Given the description of an element on the screen output the (x, y) to click on. 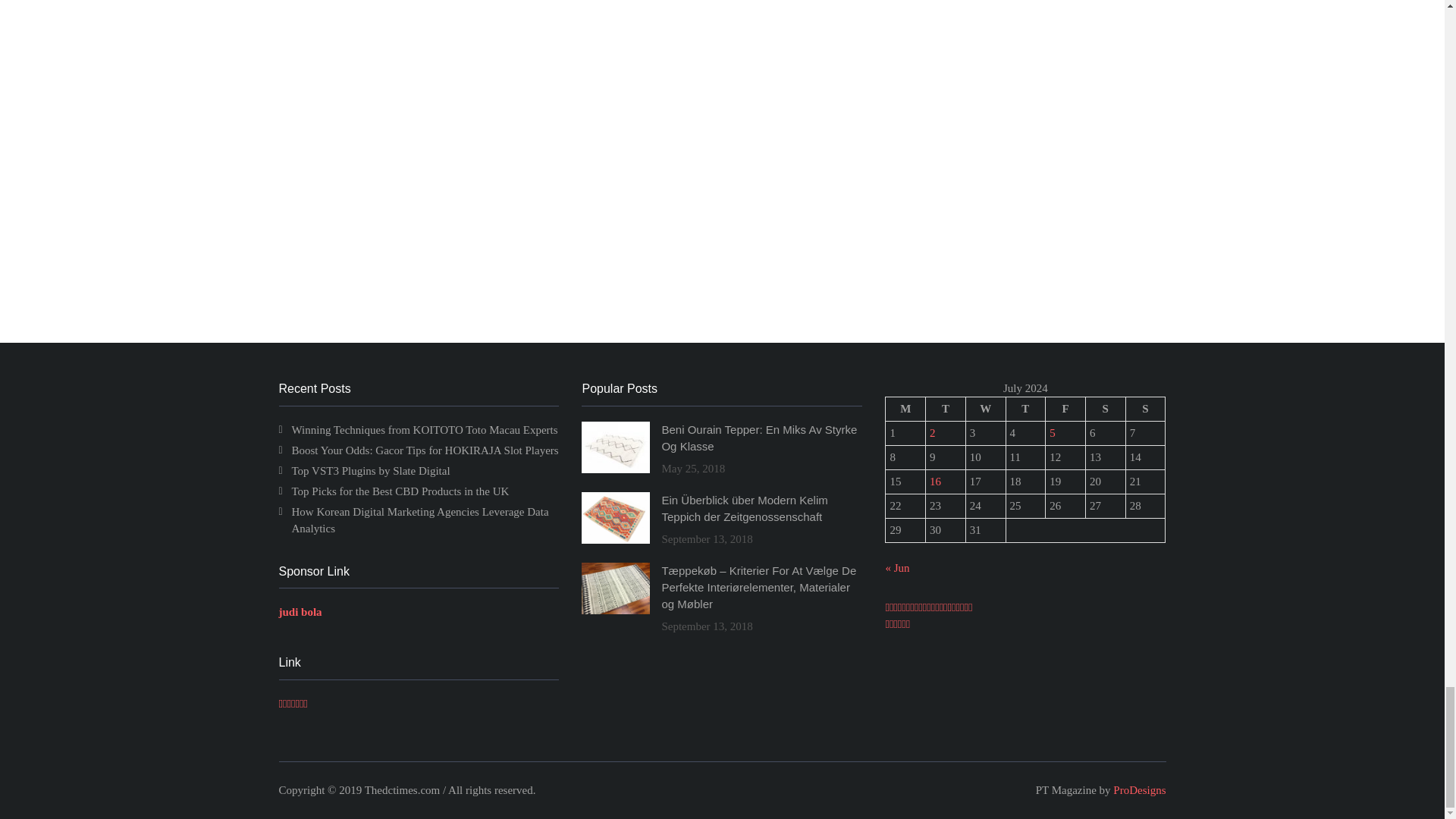
Thursday (1025, 409)
Friday (1065, 409)
Tuesday (946, 409)
Wednesday (985, 409)
Monday (905, 409)
Sunday (1145, 409)
Saturday (1104, 409)
